Given the description of an element on the screen output the (x, y) to click on. 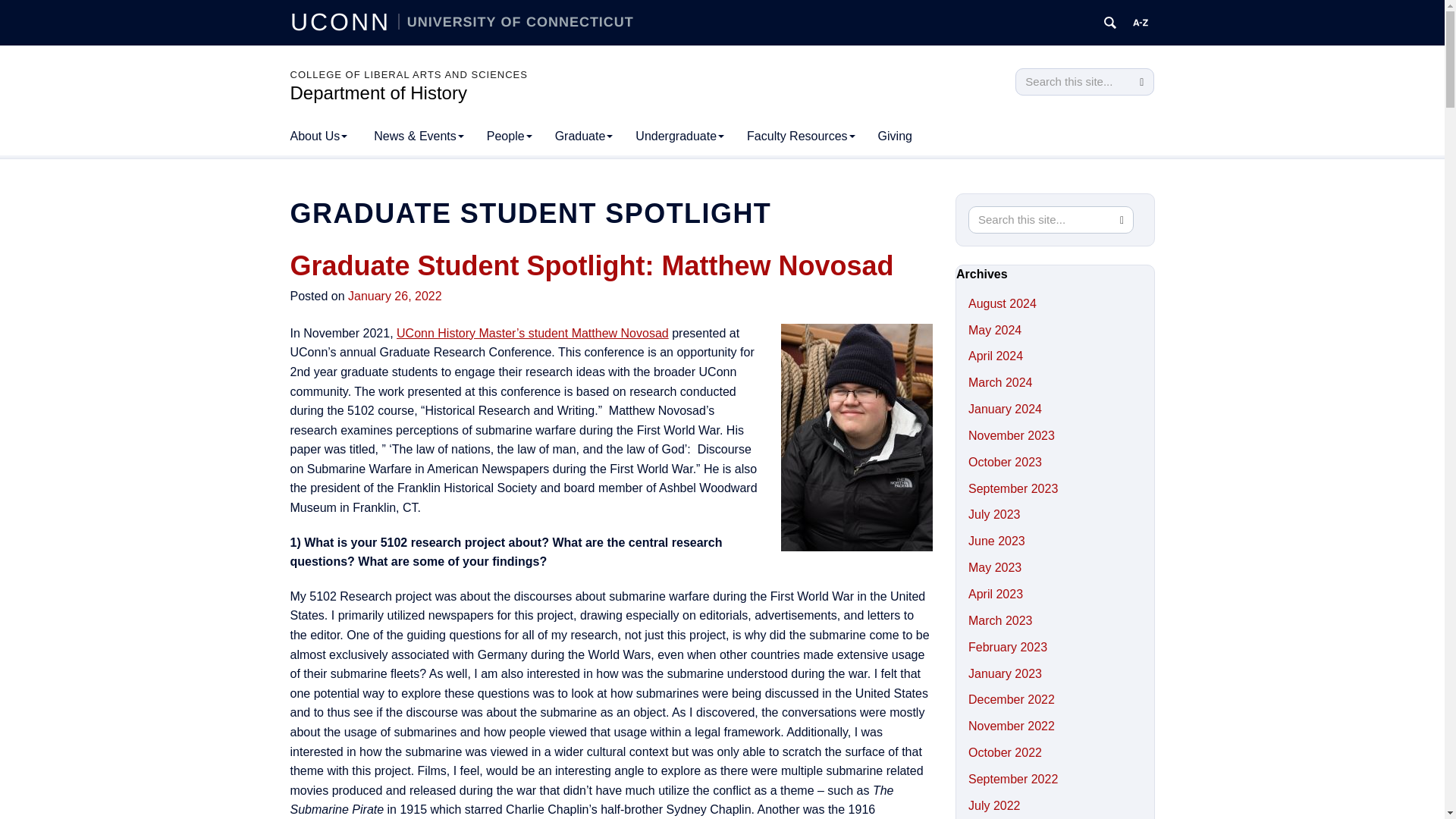
Search this site...  (1072, 81)
UCONN (343, 21)
COLLEGE OF LIBERAL ARTS AND SCIENCES (408, 74)
Search this site...  (1040, 219)
UConn A to Z Index (1140, 22)
People (509, 136)
Search (1141, 81)
Department of History (377, 92)
Search (1141, 81)
